Given the description of an element on the screen output the (x, y) to click on. 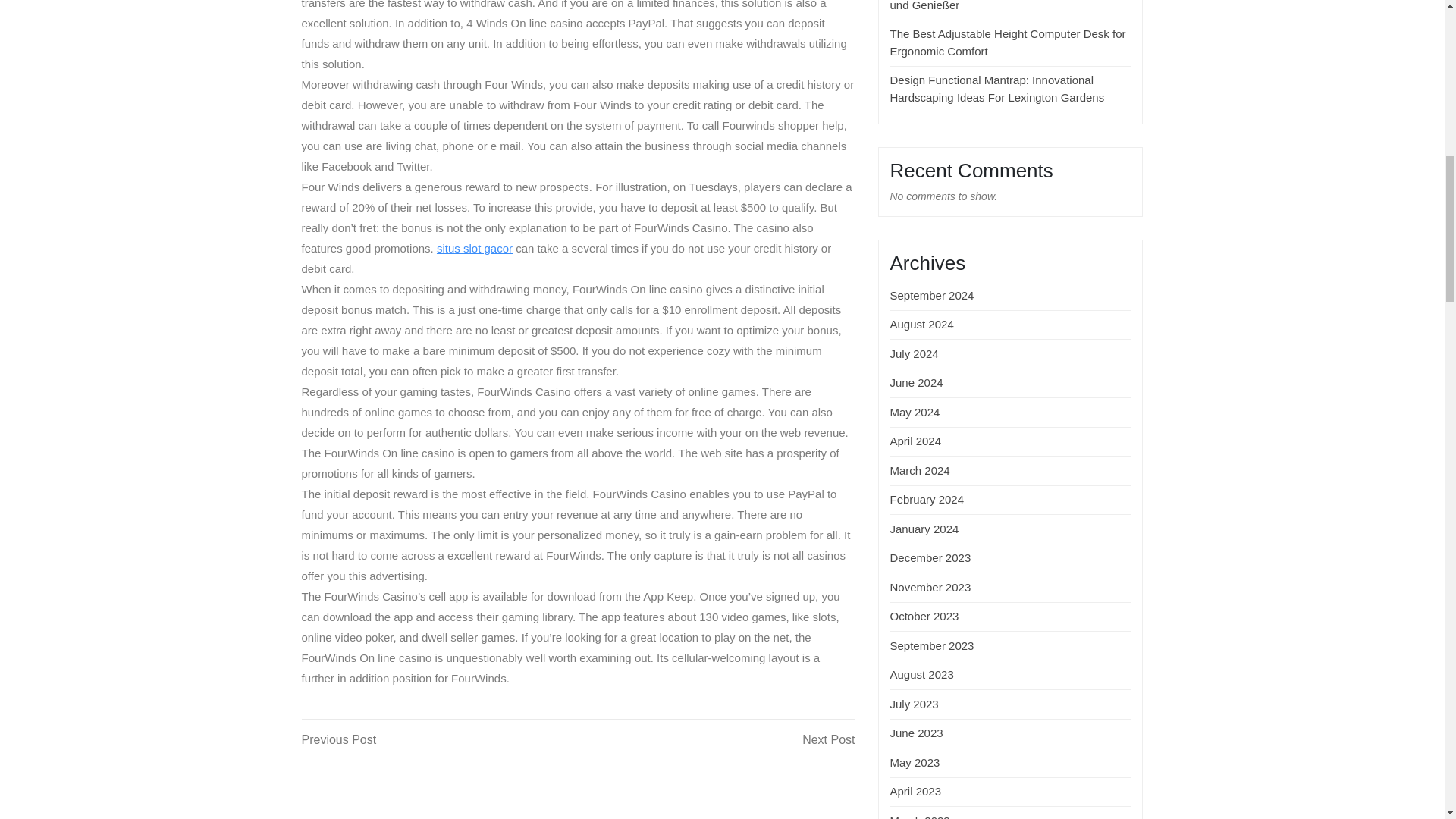
July 2024 (439, 740)
November 2023 (914, 353)
August 2024 (930, 586)
April 2024 (921, 323)
March 2024 (915, 440)
situs slot gacor (919, 470)
September 2024 (474, 247)
